Given the description of an element on the screen output the (x, y) to click on. 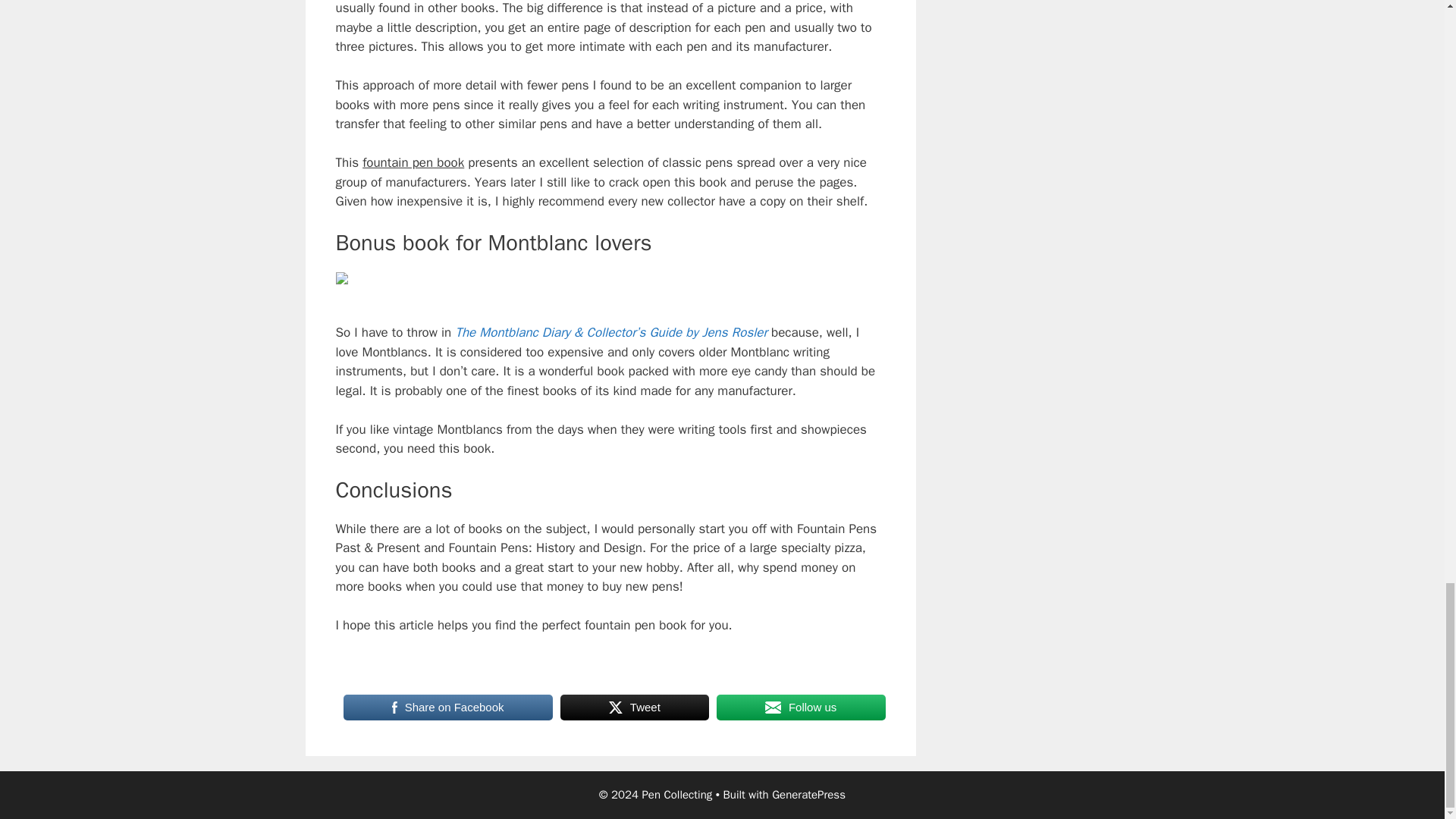
GeneratePress (808, 794)
Share on Facebook (446, 706)
Tweet (634, 706)
Follow us (800, 706)
